Given the description of an element on the screen output the (x, y) to click on. 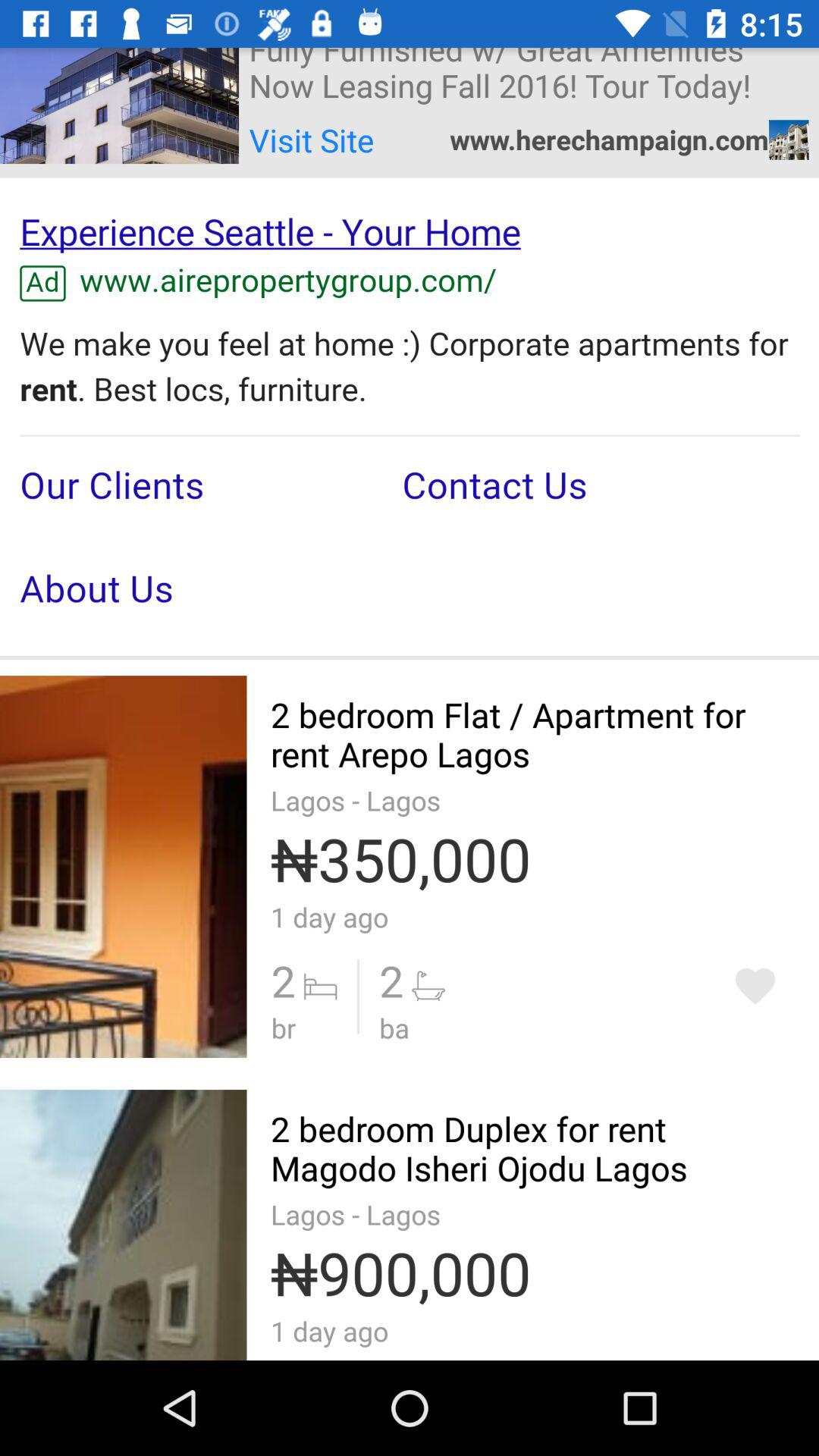
add this hotel to your favorites (755, 986)
